Given the description of an element on the screen output the (x, y) to click on. 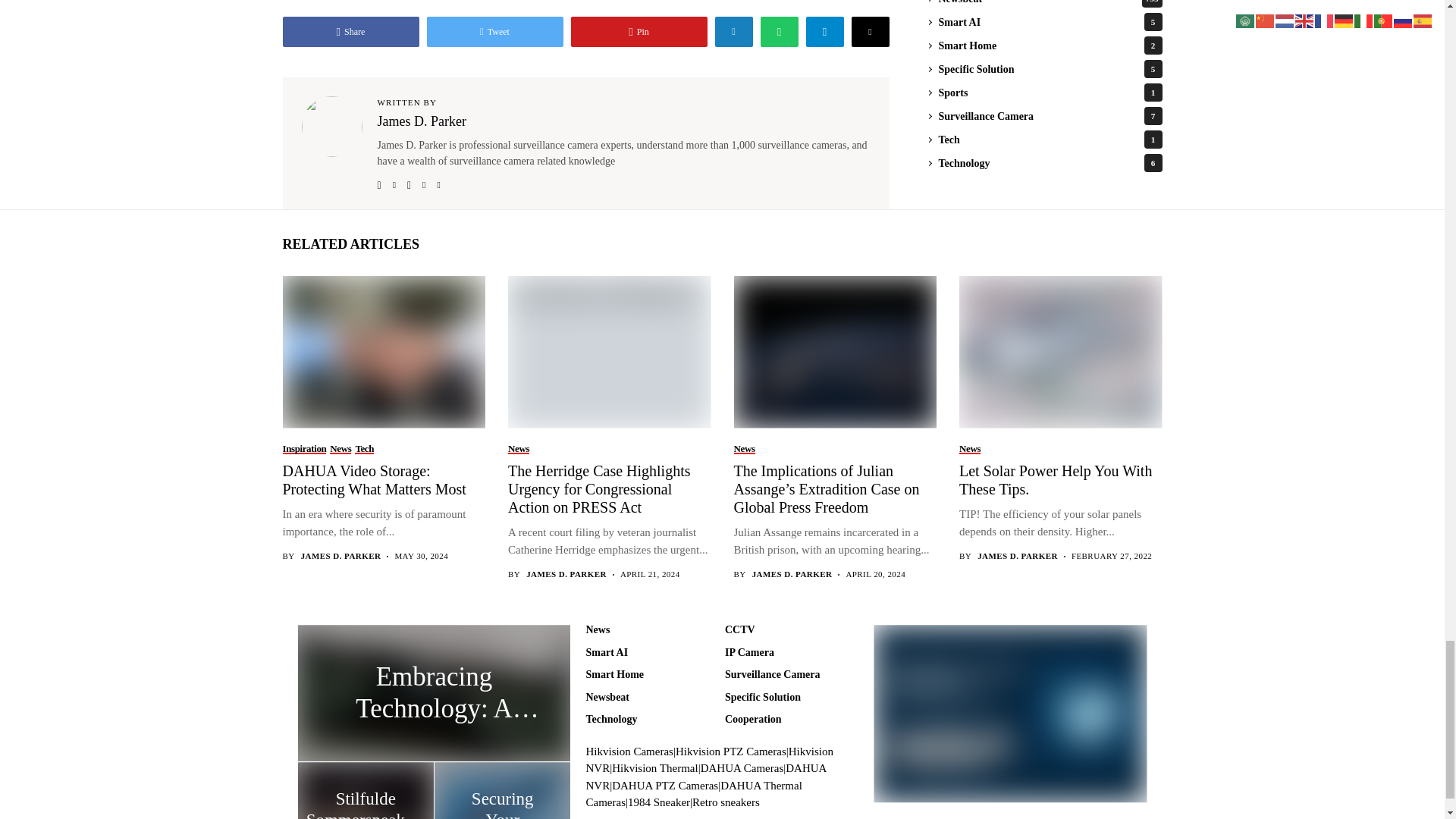
Posts by James D. Parker (566, 574)
Posts by James D. Parker (341, 556)
DAHUA Video Storage: Protecting What Matters Most (382, 351)
